Given the description of an element on the screen output the (x, y) to click on. 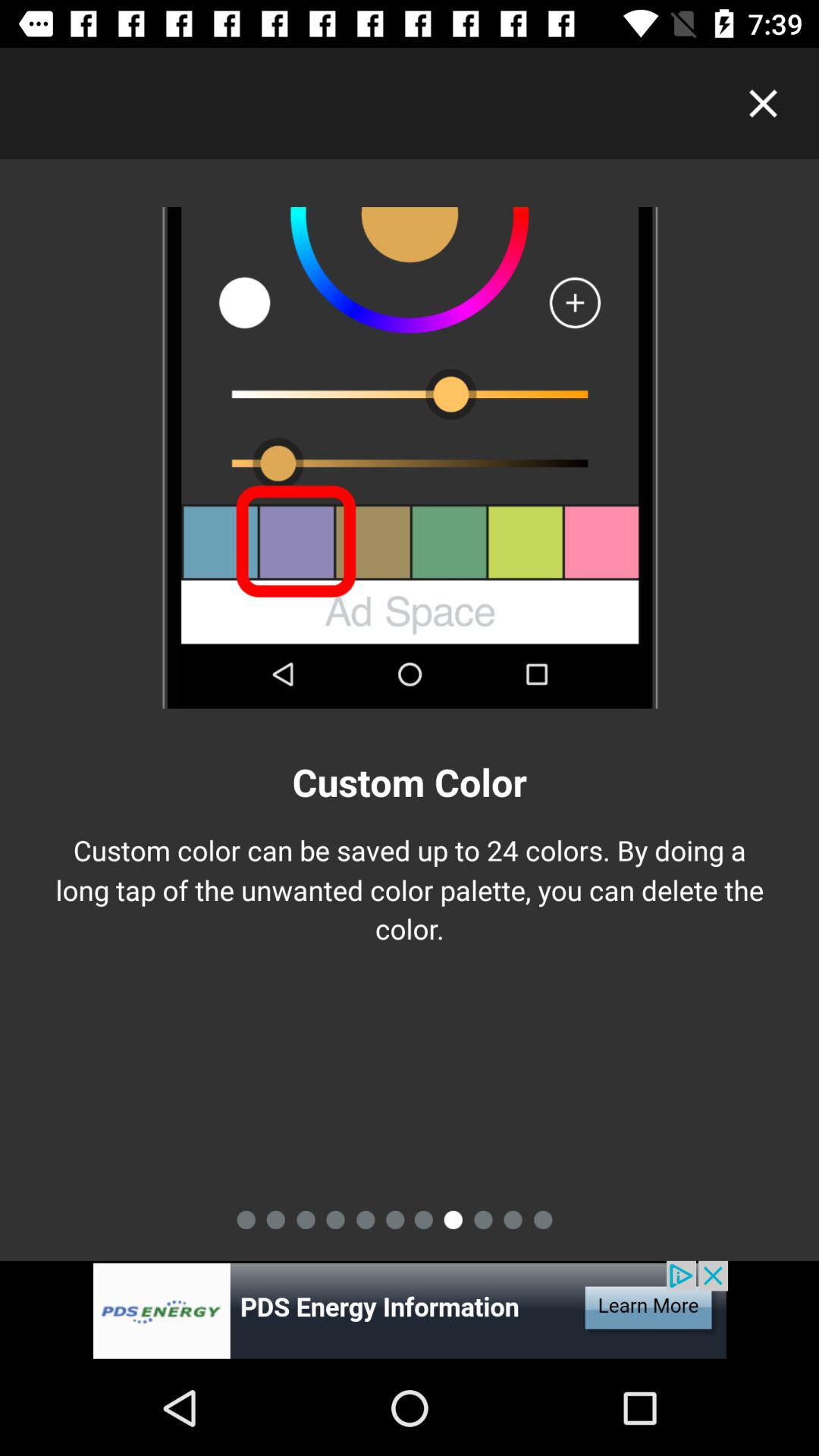
advertisement (409, 1310)
